Given the description of an element on the screen output the (x, y) to click on. 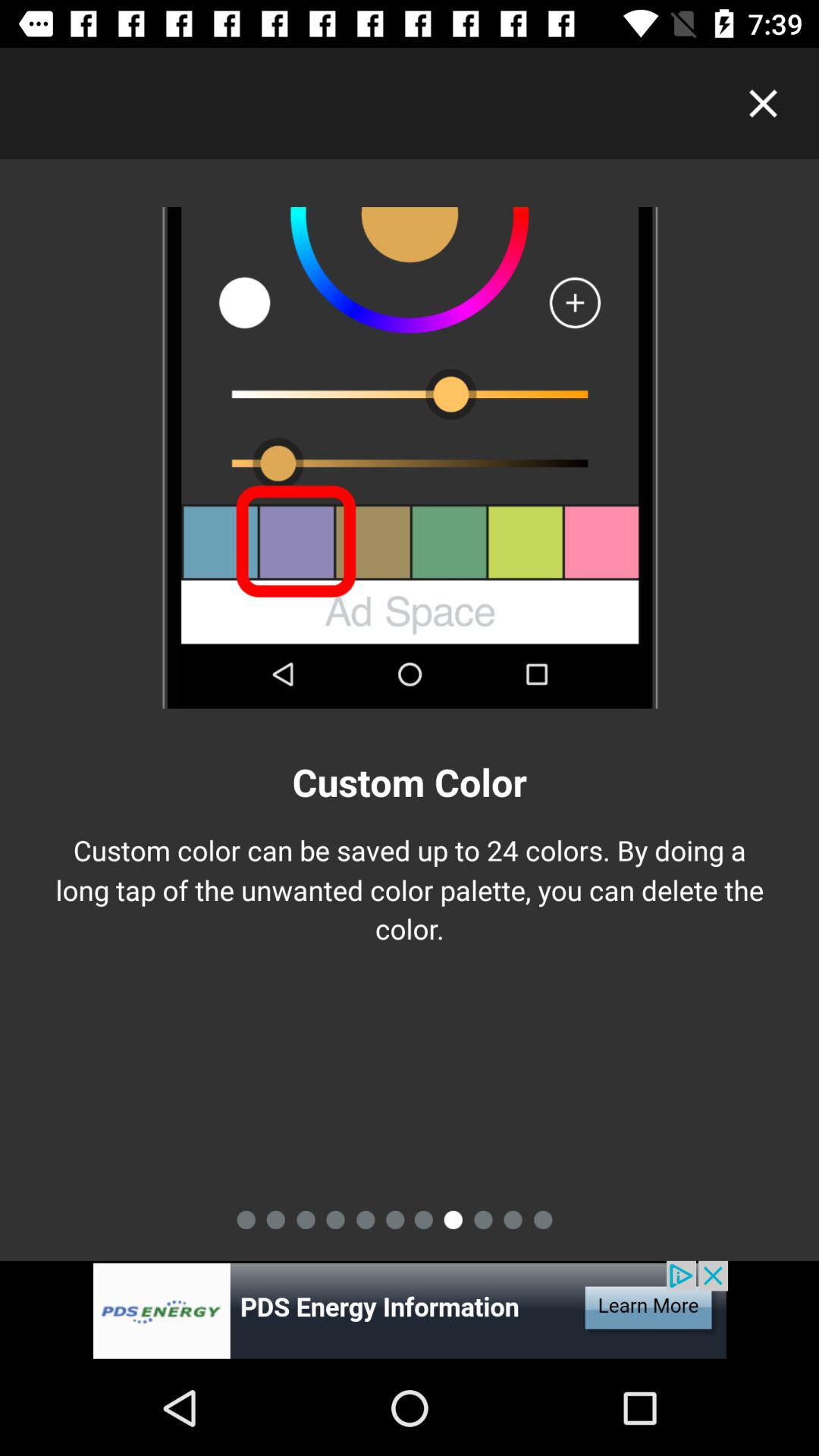
advertisement (409, 1310)
